Given the description of an element on the screen output the (x, y) to click on. 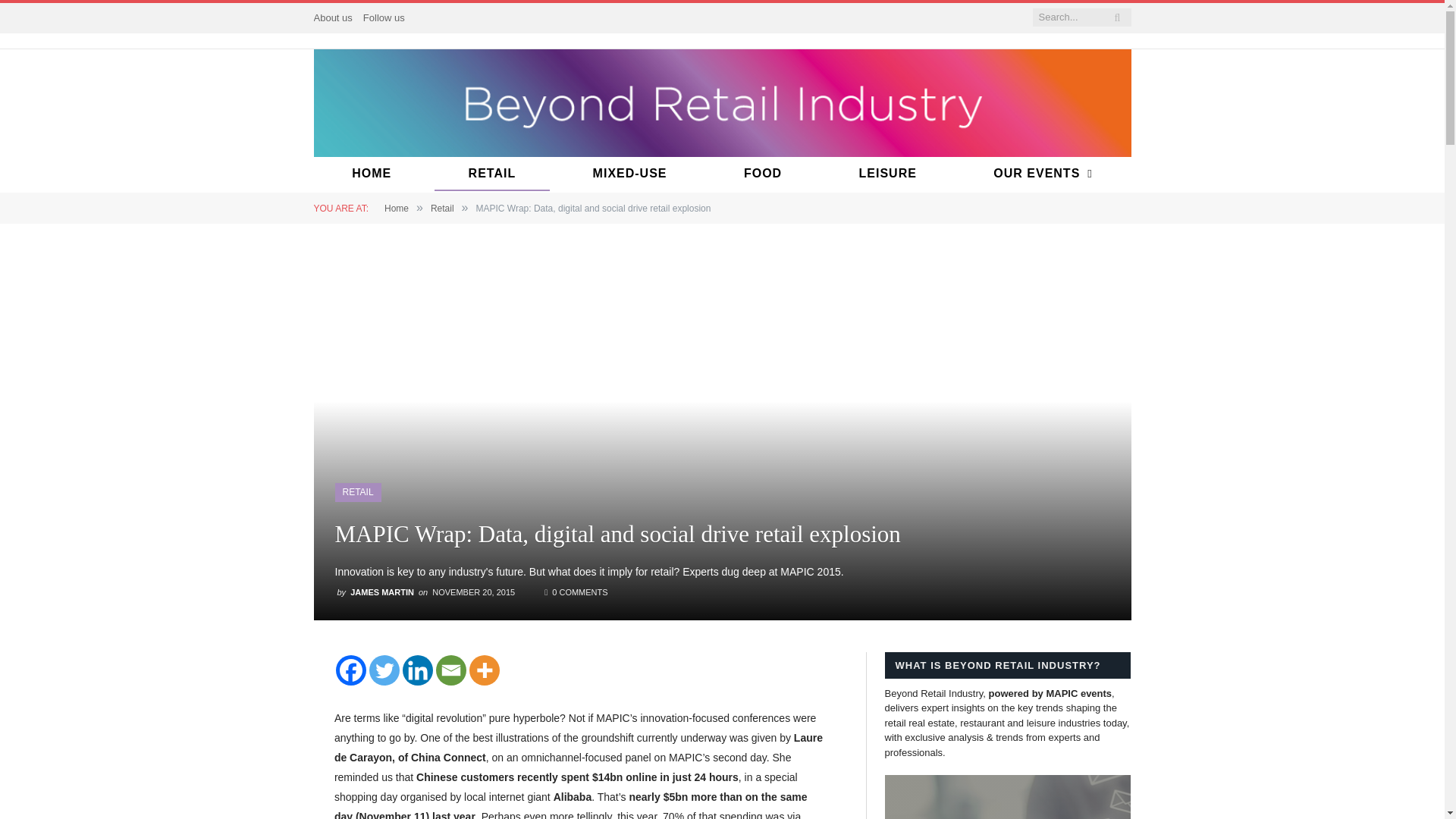
FOOD (762, 174)
More (483, 670)
HOME (371, 174)
About us (333, 17)
Facebook (351, 670)
MIXED-USE (630, 174)
Beyond Retail Industry (722, 101)
RETAIL (491, 173)
Follow us (383, 17)
Home (396, 208)
